Given the description of an element on the screen output the (x, y) to click on. 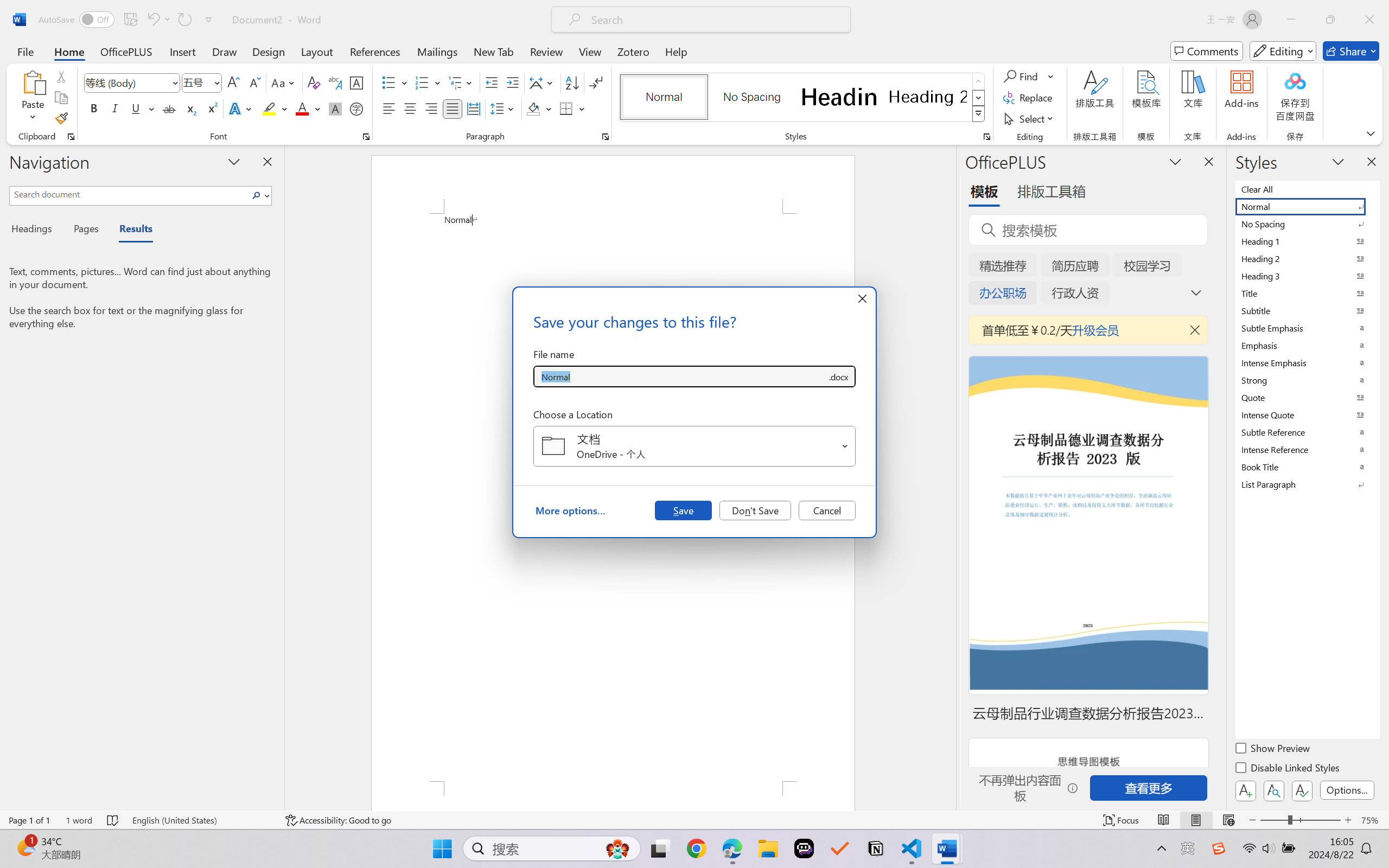
Spelling and Grammar Check No Errors (113, 819)
Mode (1283, 50)
Save (682, 509)
Intense Reference (1306, 449)
Emphasis (1306, 345)
Increase Indent (512, 82)
Font (132, 82)
File name (680, 376)
Heading 2 (927, 96)
Show Preview (1273, 749)
